Given the description of an element on the screen output the (x, y) to click on. 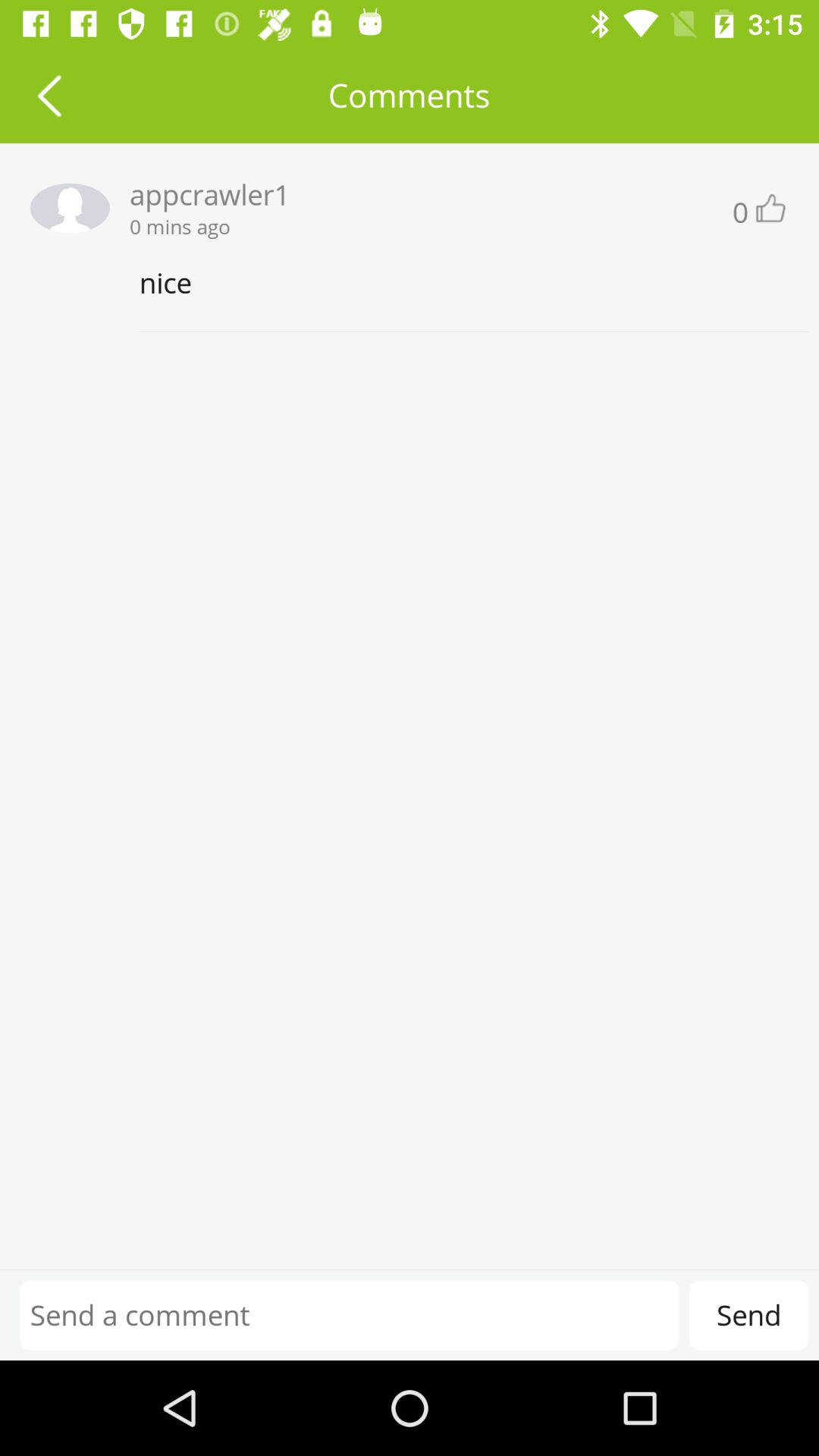
go to profile (64, 208)
